Given the description of an element on the screen output the (x, y) to click on. 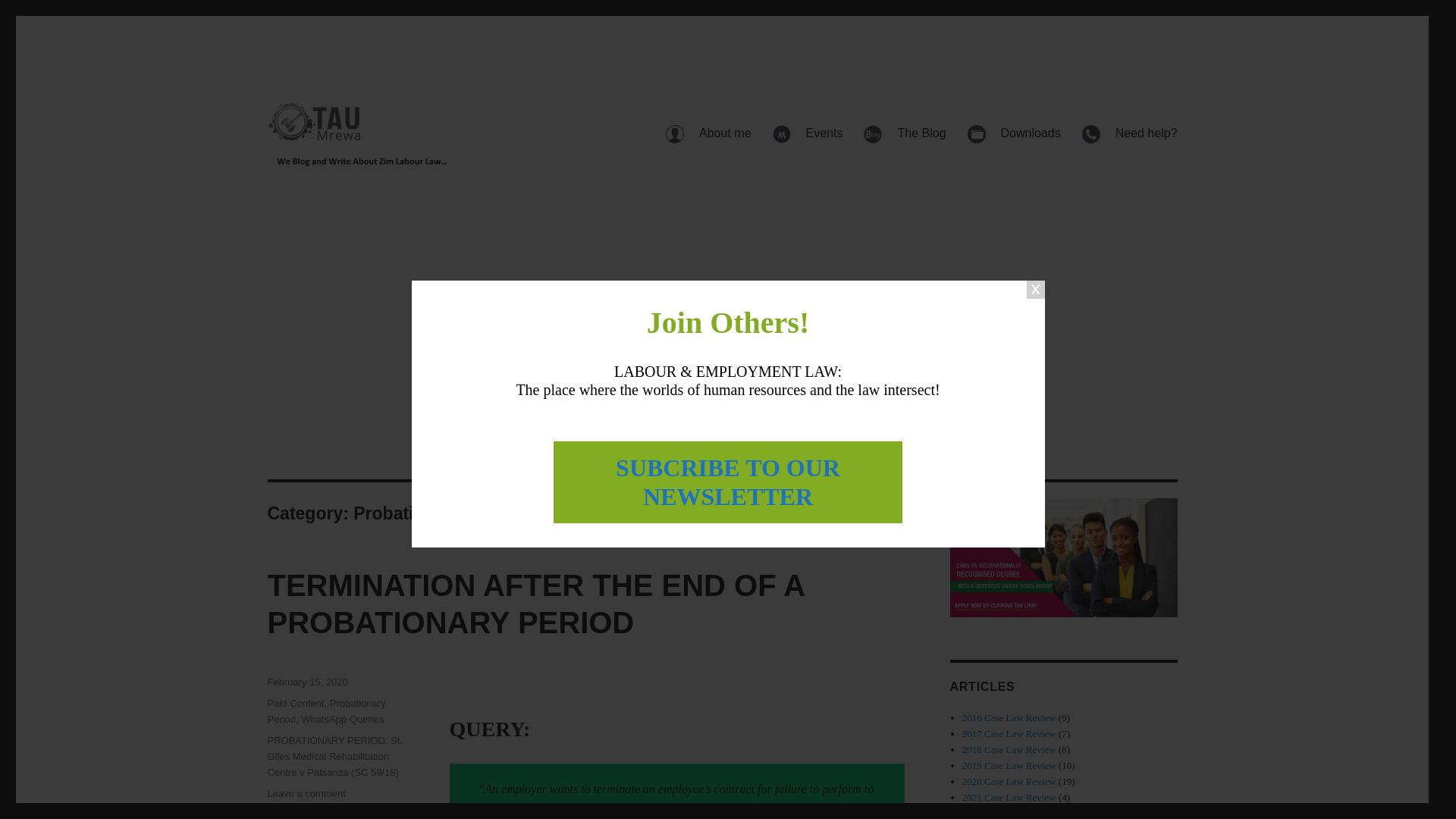
About me (708, 133)
2016 Case Law Review (1009, 717)
2022 Case Law Review (1009, 813)
WhatsApp Queries (342, 718)
TERMINATION AFTER THE END OF A PROBATIONARY PERIOD (534, 603)
2017 Case Law Review (1009, 733)
2021 Case Law Review (1009, 797)
Probationary Period (325, 710)
2018 Case Law Review (1009, 749)
Downloads (1013, 133)
Paid Content (294, 703)
Tau Mrewa (320, 190)
2019 Case Law Review (1009, 765)
